Given the description of an element on the screen output the (x, y) to click on. 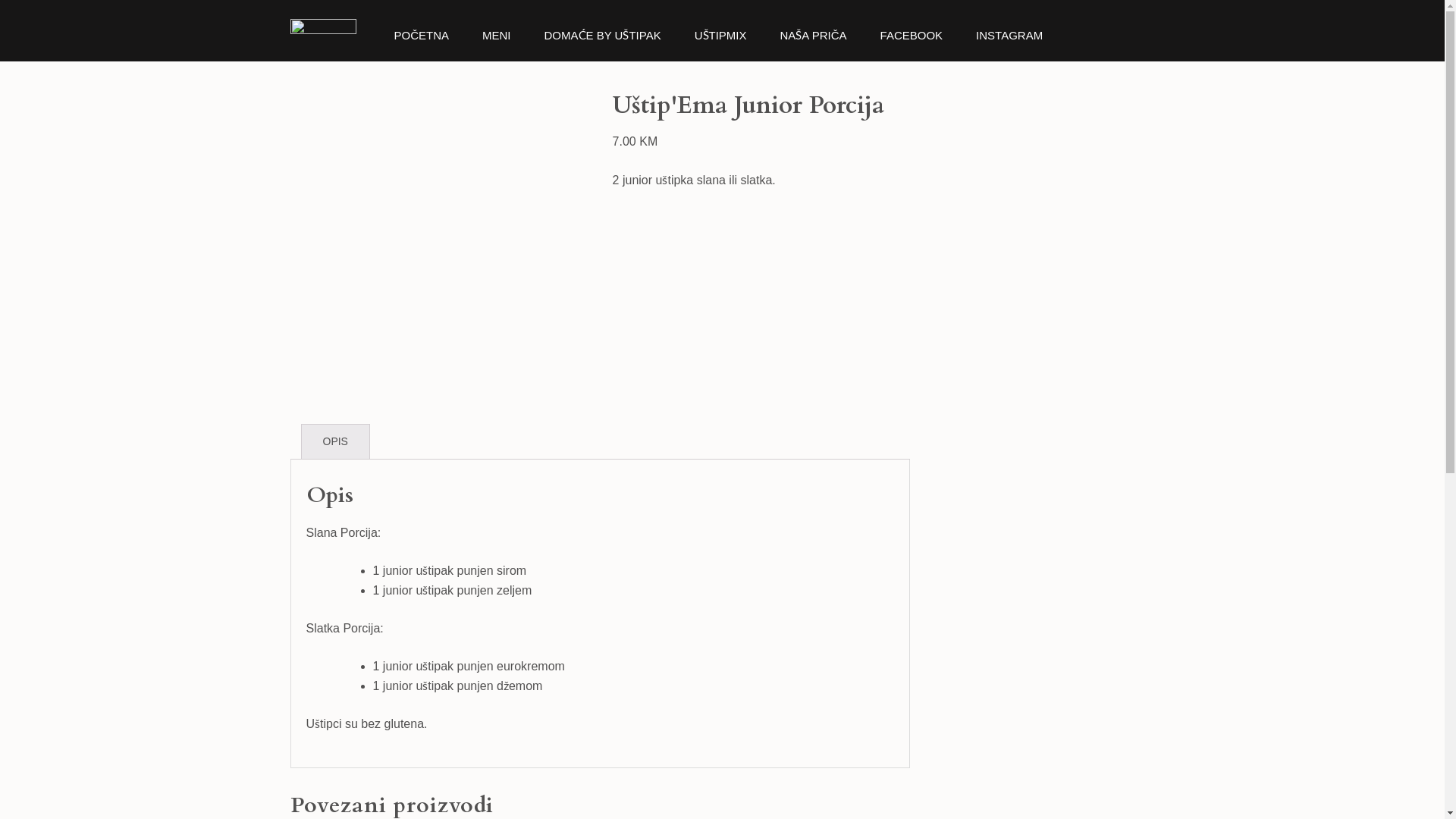
MENI Element type: text (496, 44)
INSTAGRAM Element type: text (1008, 44)
FACEBOOK Element type: text (911, 44)
OPIS Element type: text (335, 441)
